Given the description of an element on the screen output the (x, y) to click on. 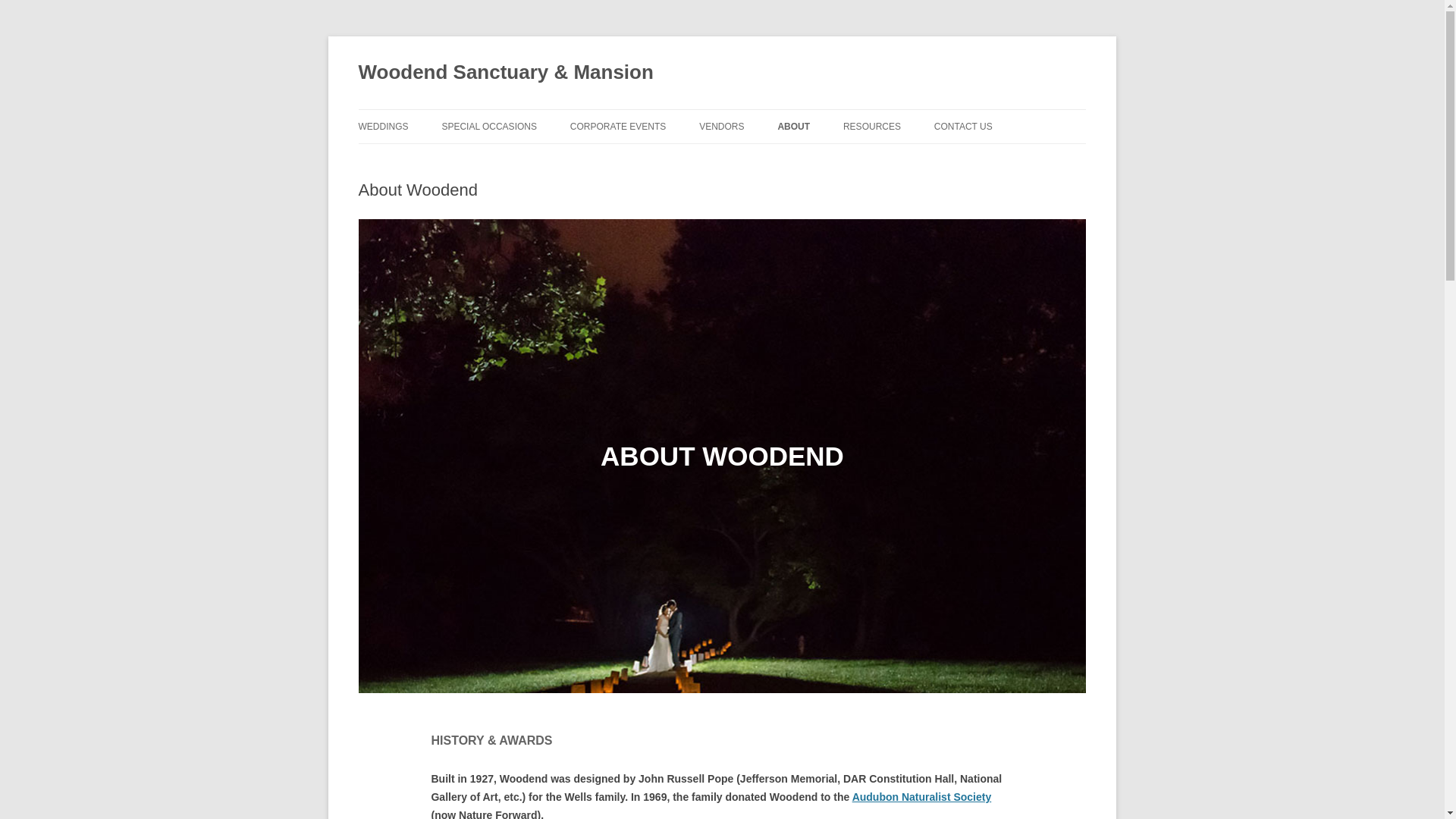
SPECIAL OCCASIONS (489, 126)
ABOUT (793, 126)
CONTACT US (963, 126)
Audubon Naturalist Society (921, 797)
WEDDINGS (382, 126)
RESOURCES (872, 126)
VENDORS (721, 126)
CORPORATE EVENTS (617, 126)
